Given the description of an element on the screen output the (x, y) to click on. 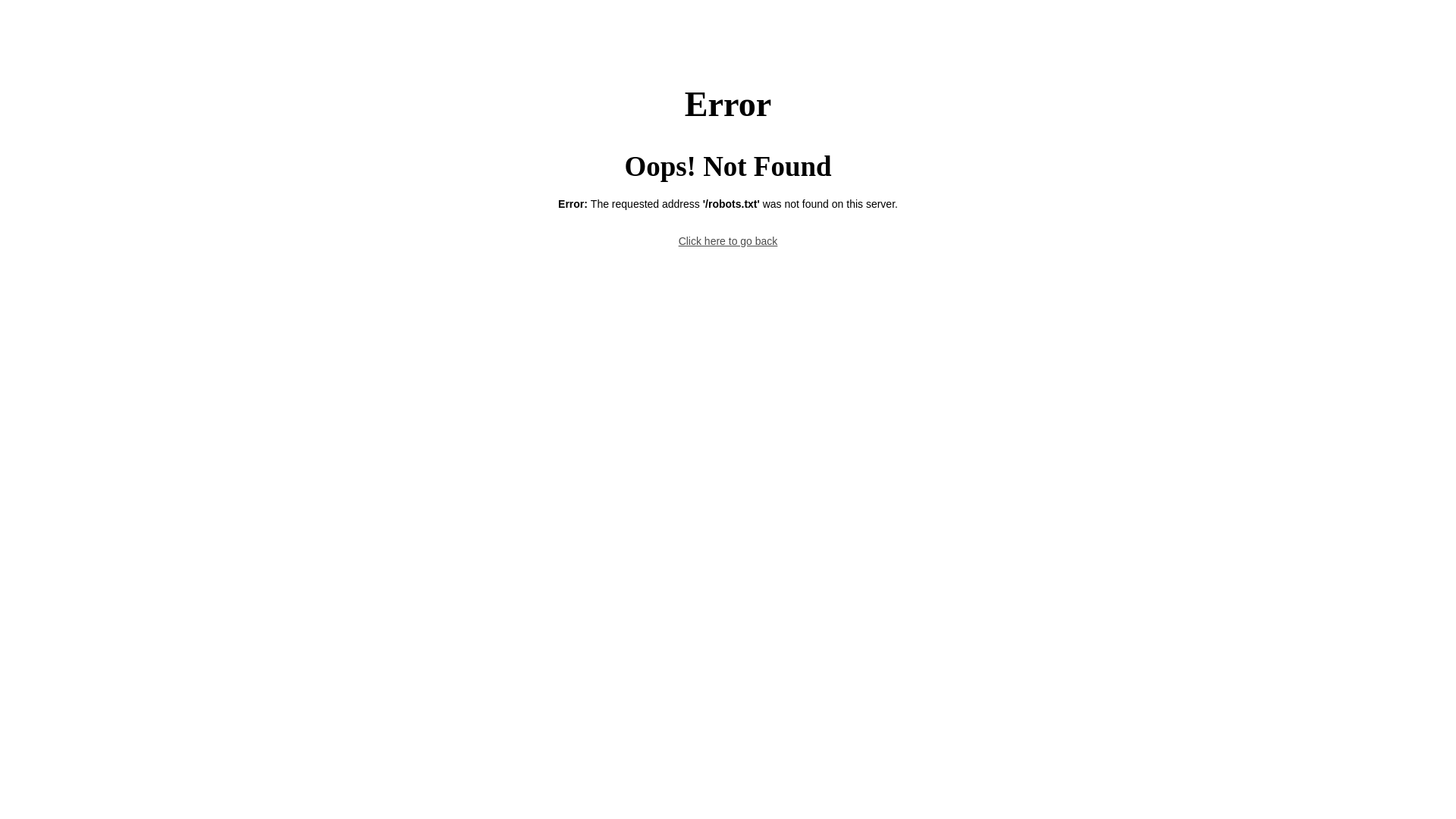
Click here to go back Element type: text (728, 241)
